Given the description of an element on the screen output the (x, y) to click on. 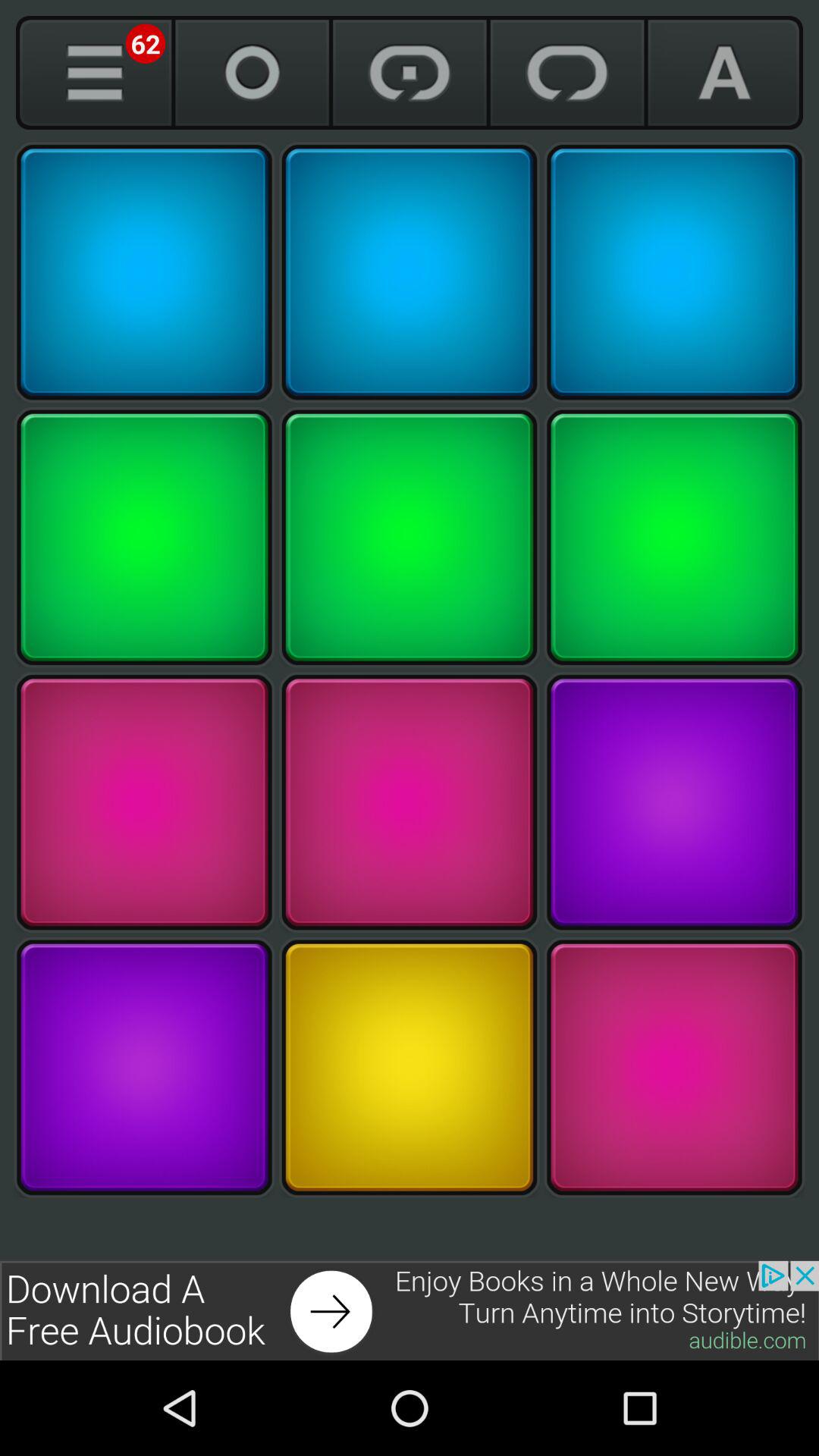
select chord (674, 1067)
